Given the description of an element on the screen output the (x, y) to click on. 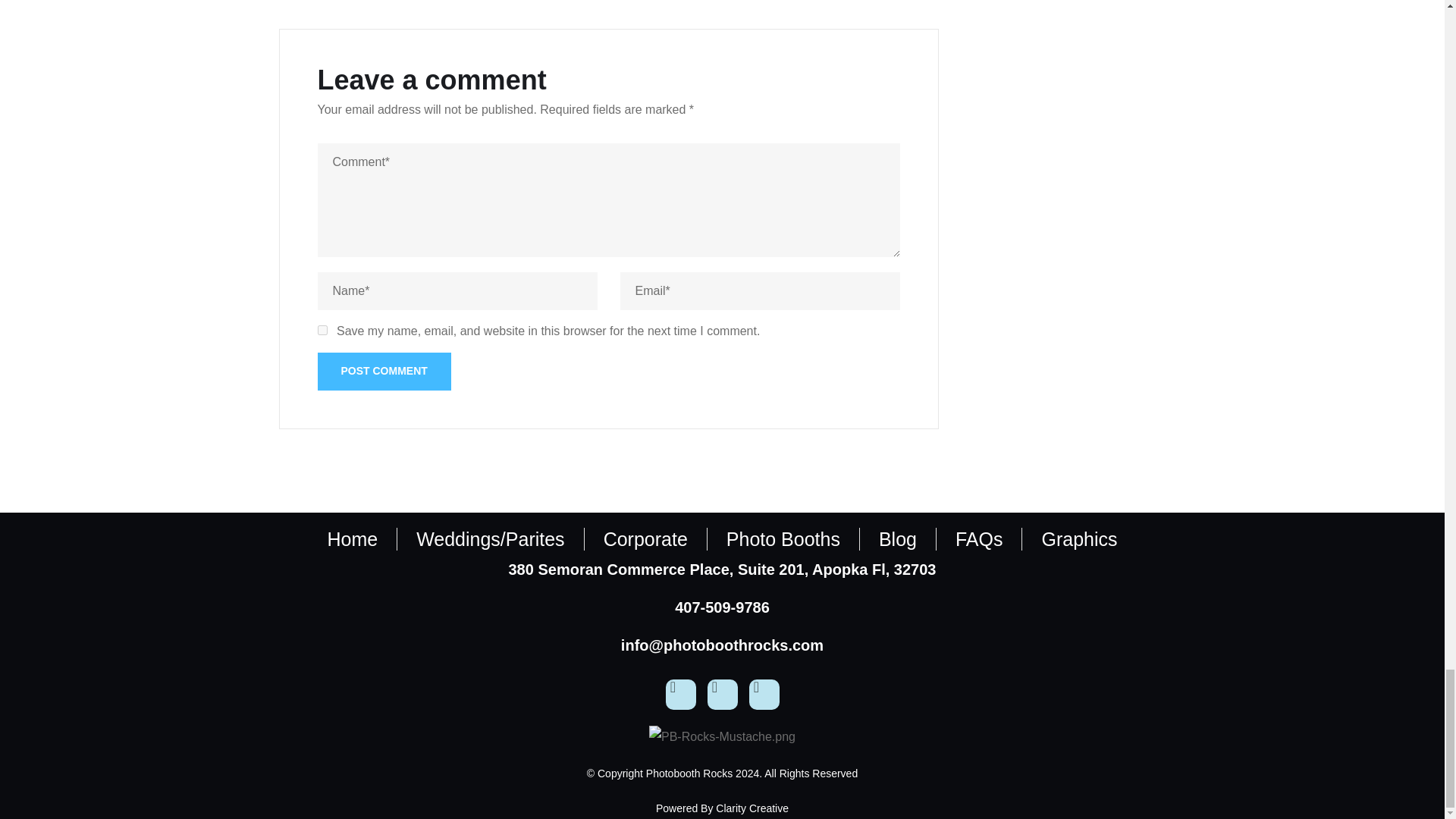
yes (321, 329)
Post Comment (383, 371)
PB-Rocks-Mustache.png (721, 736)
